Given the description of an element on the screen output the (x, y) to click on. 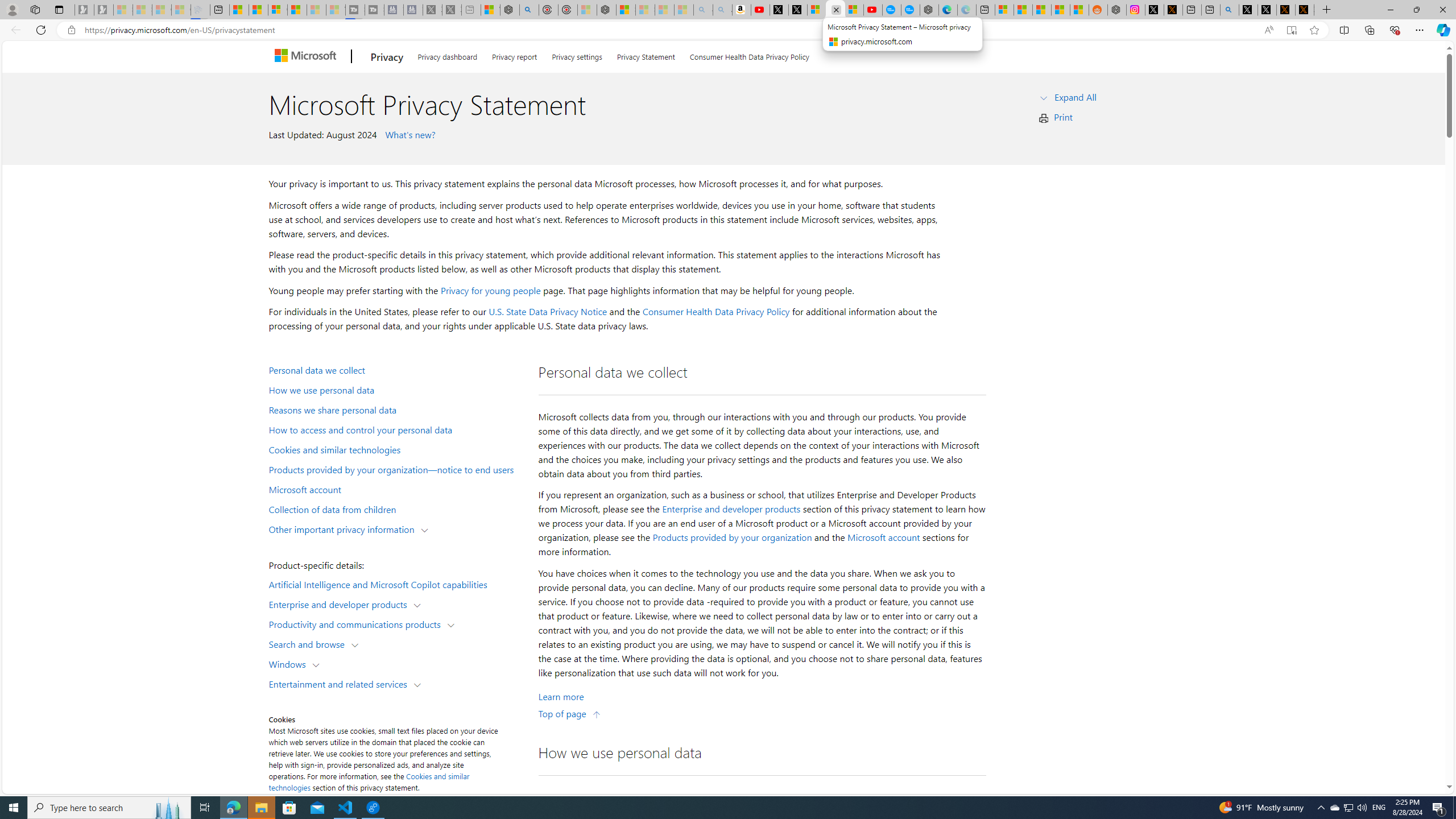
Privacy dashboard (447, 54)
Overview (277, 9)
Enterprise and developer products (731, 508)
Enter Immersive Reader (F9) (1291, 29)
